Given the description of an element on the screen output the (x, y) to click on. 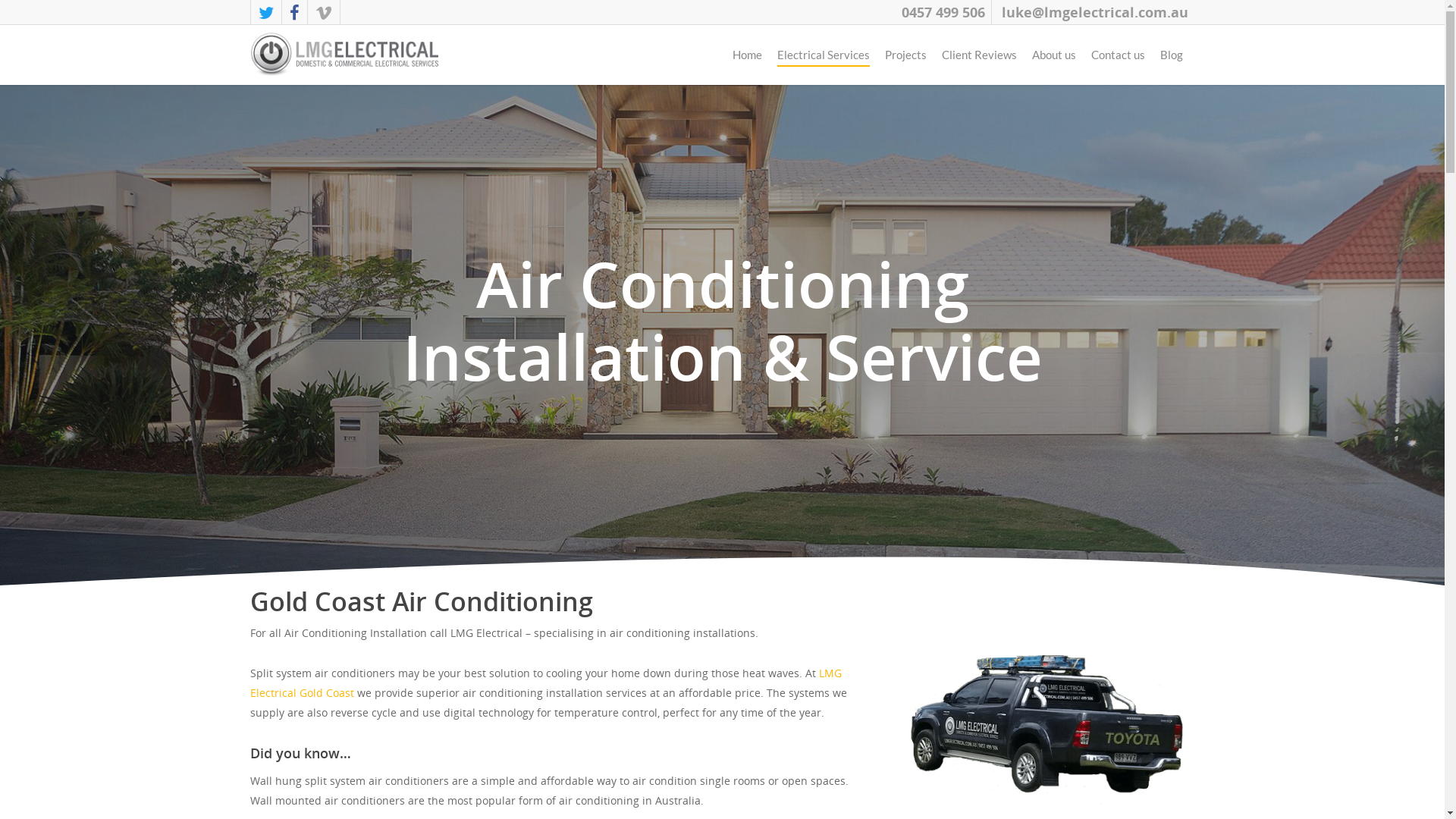
Blog Element type: text (1171, 57)
Electrical Services Element type: text (823, 57)
0457 499 506 Element type: text (943, 12)
Contact us Element type: text (1118, 57)
LMG Electrical Gold Coast Element type: text (545, 682)
Home Element type: text (747, 57)
luke@lmgelectrical.com.au Element type: text (1094, 12)
Projects Element type: text (905, 57)
About us Element type: text (1054, 57)
Client Reviews Element type: text (978, 57)
